Given the description of an element on the screen output the (x, y) to click on. 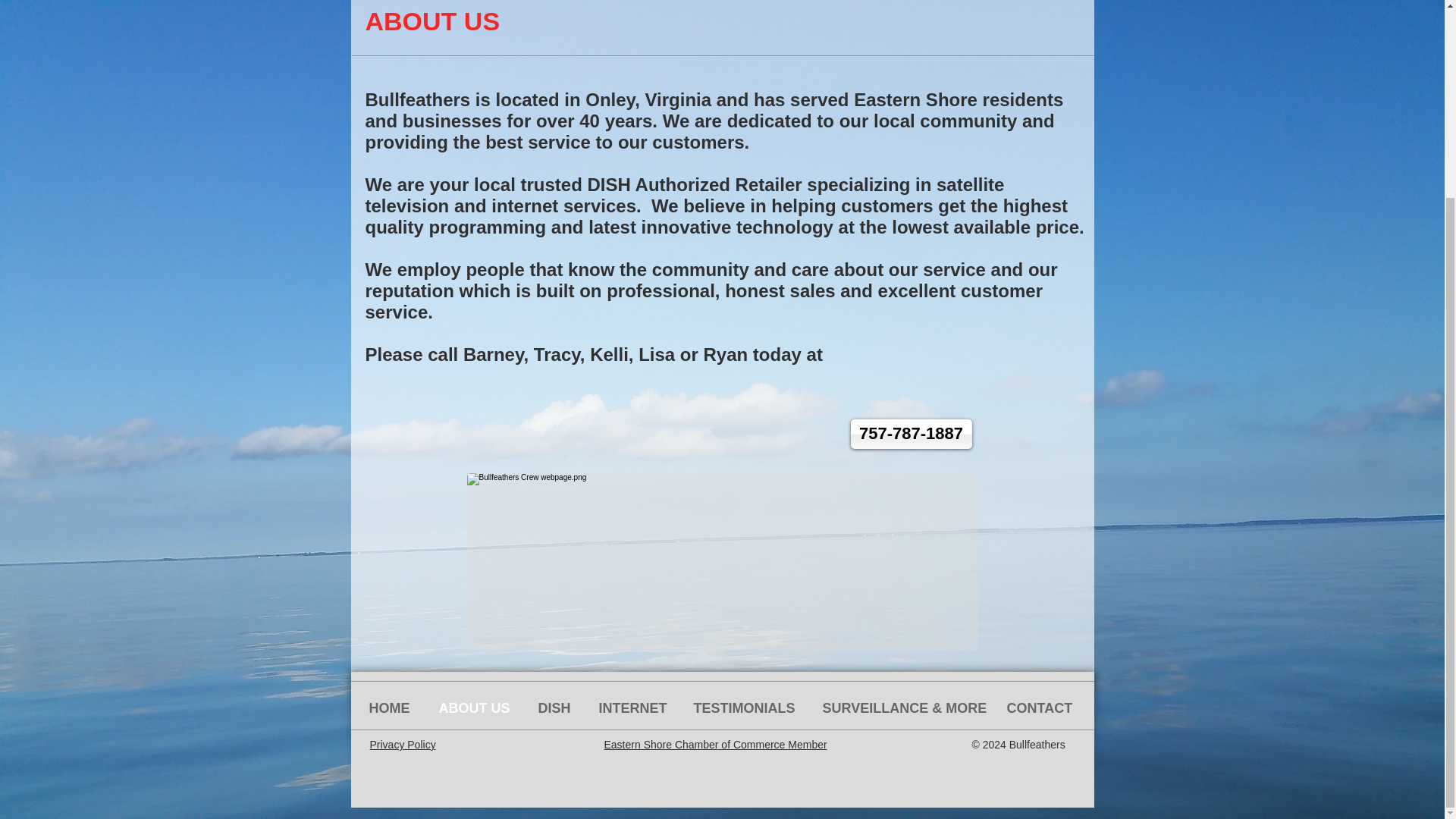
INTERNET (633, 708)
Eastern Shore Chamber of Commerce Member (715, 744)
TESTIMONIALS (746, 708)
CONTACT (1043, 708)
ABOUT US (477, 708)
757-787-1887 (911, 433)
DISH (555, 708)
Privacy Policy (402, 744)
HOME (393, 708)
